Given the description of an element on the screen output the (x, y) to click on. 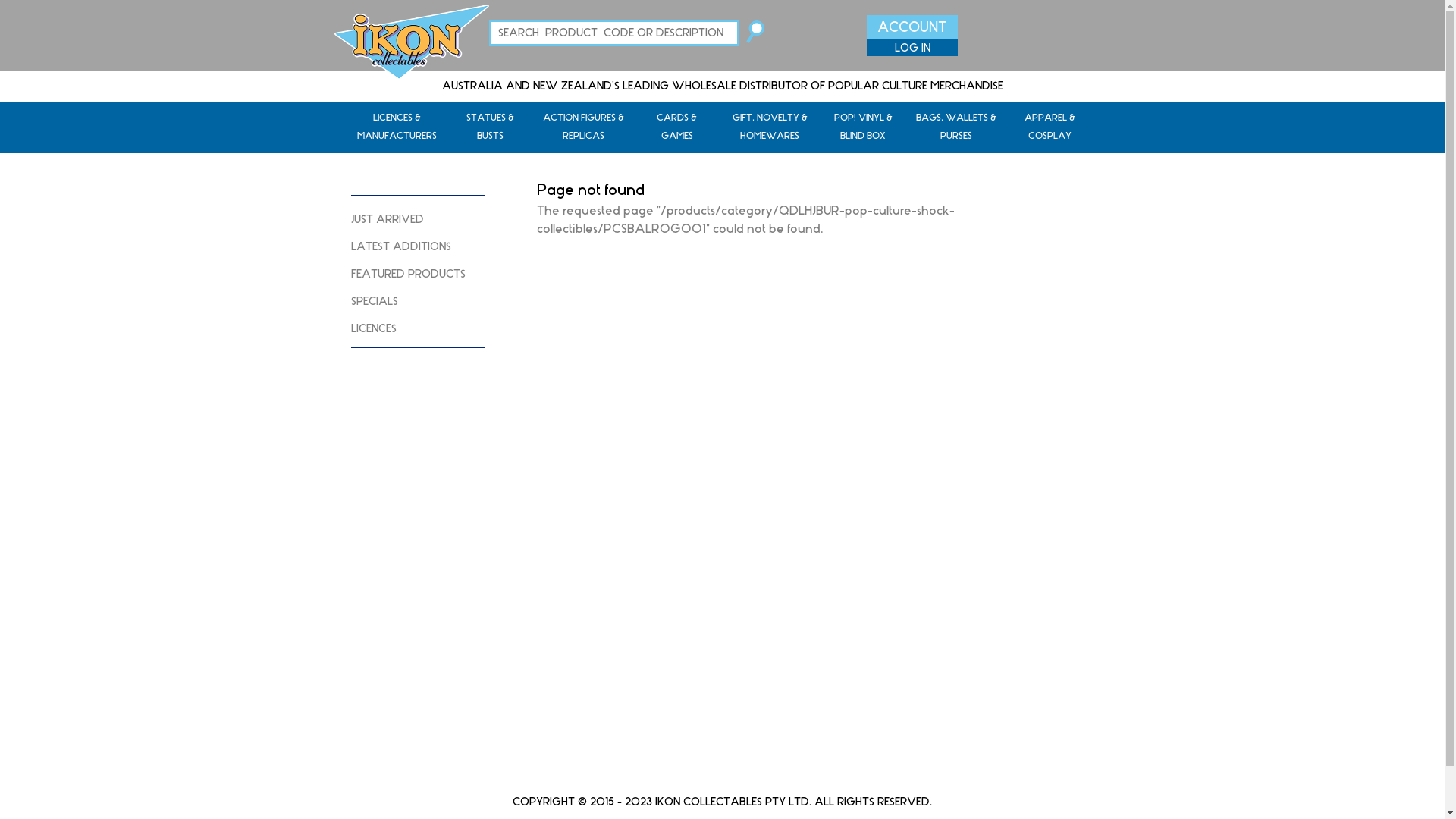
SPECIALS Element type: text (416, 301)
CARDS &
GAMES Element type: text (676, 127)
Home Element type: hover (411, 41)
ACTION FIGURES &
REPLICAS Element type: text (583, 127)
BAGS, WALLETS &
PURSES Element type: text (956, 127)
POP! VINYL &
BLIND BOX Element type: text (863, 127)
FEATURED PRODUCTS Element type: text (416, 274)
LICENCES Element type: text (416, 329)
JUST ARRIVED Element type: text (416, 219)
Jump to navigation Element type: text (722, 2)
LATEST ADDITIONS Element type: text (416, 247)
STATUES &
BUSTS Element type: text (490, 127)
Search Element type: text (755, 39)
LOG IN Element type: text (911, 48)
APPAREL &
COSPLAY Element type: text (1049, 127)
ACCOUNT Element type: text (911, 27)
GIFT, NOVELTY &
HOMEWARES Element type: text (770, 127)
LICENCES &
MANUFACTURERS Element type: text (396, 127)
